Given the description of an element on the screen output the (x, y) to click on. 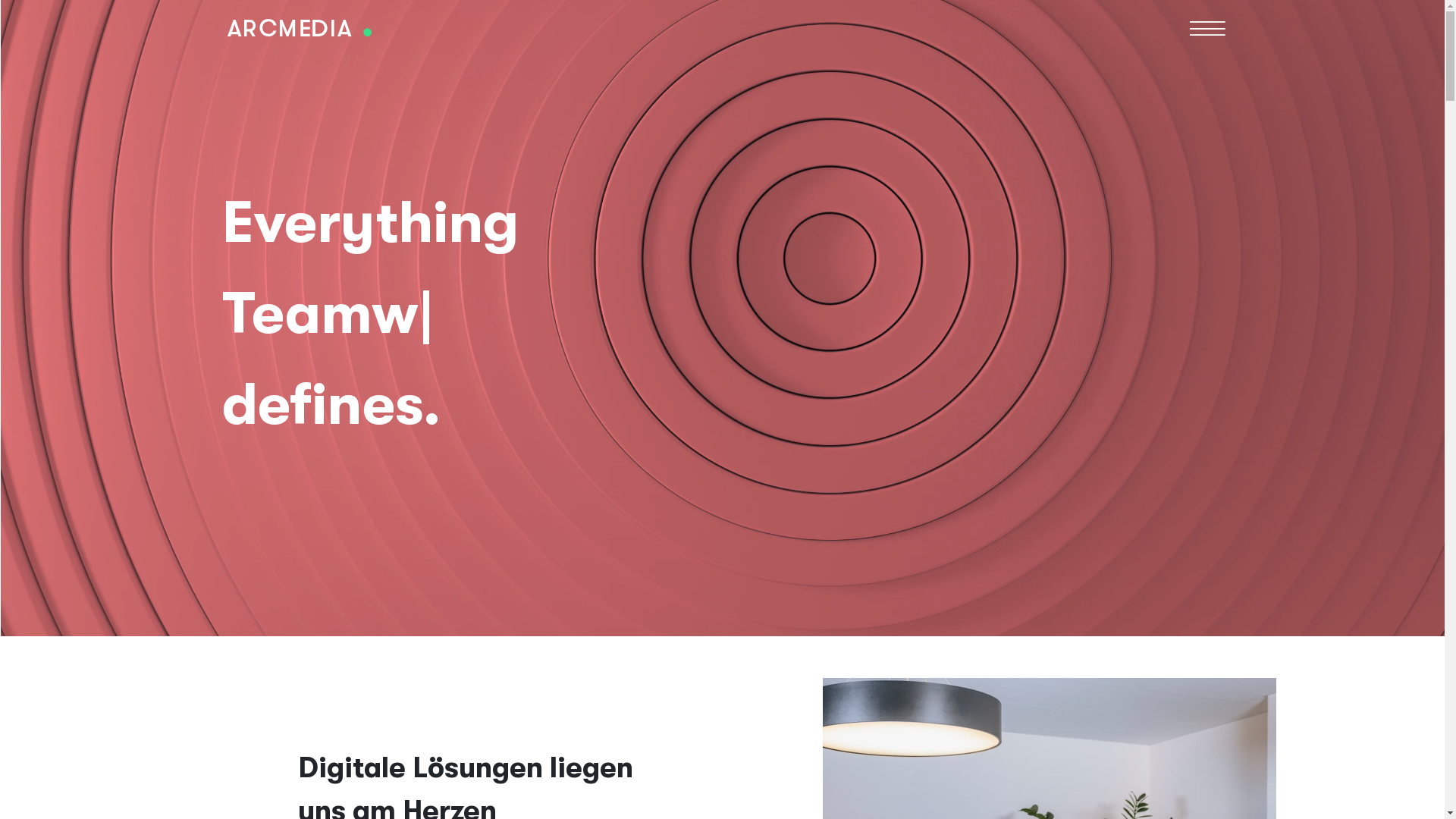
Home Element type: hover (299, 27)
